Given the description of an element on the screen output the (x, y) to click on. 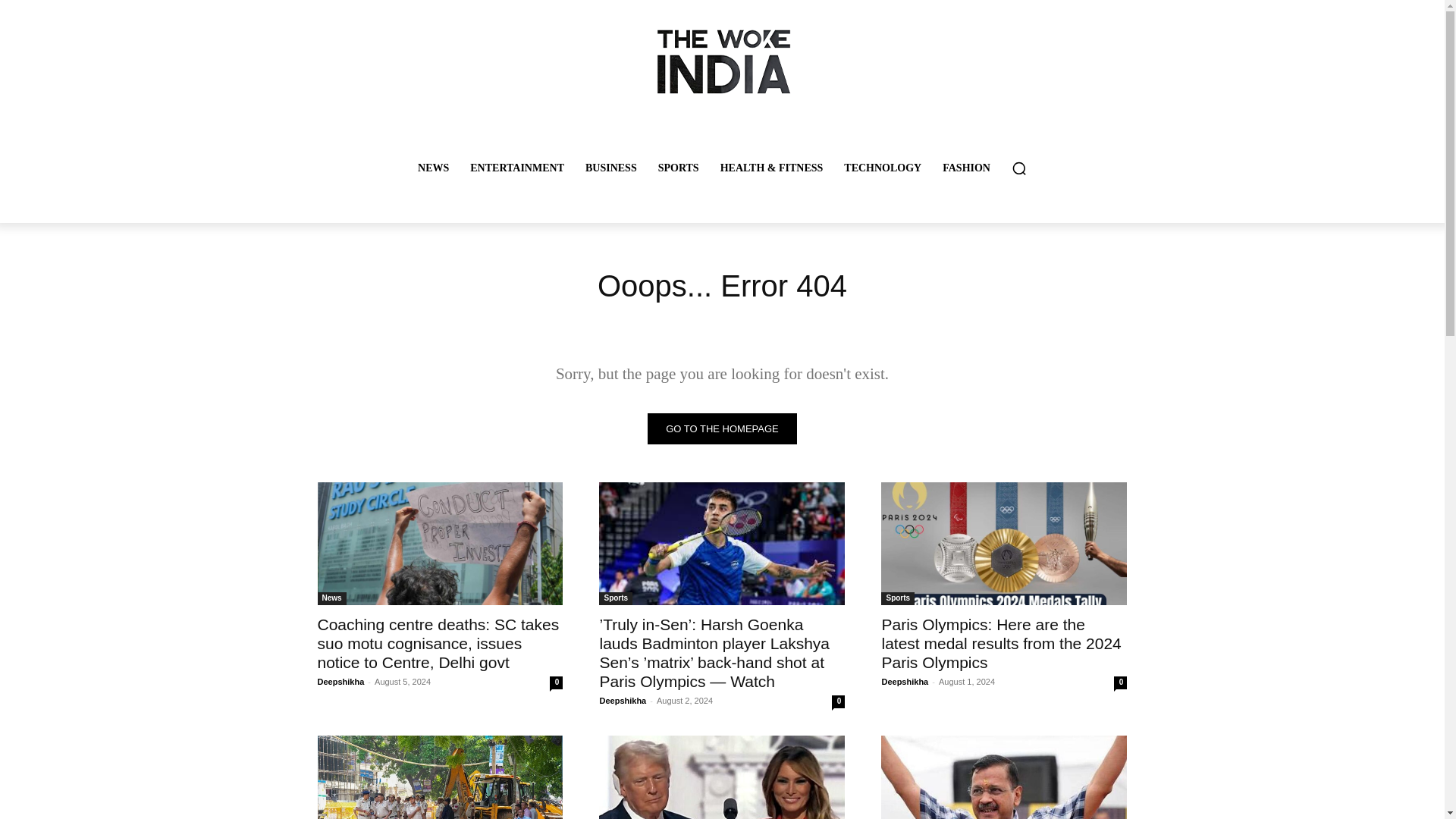
0 (837, 701)
Deepshikha (340, 681)
TECHNOLOGY (881, 167)
Deepshikha (904, 681)
ENTERTAINMENT (517, 167)
GO TO THE HOMEPAGE (721, 428)
BUSINESS (611, 167)
Sports (614, 598)
Deepshikha (622, 700)
Go to the homepage (721, 428)
SPORTS (678, 167)
